Given the description of an element on the screen output the (x, y) to click on. 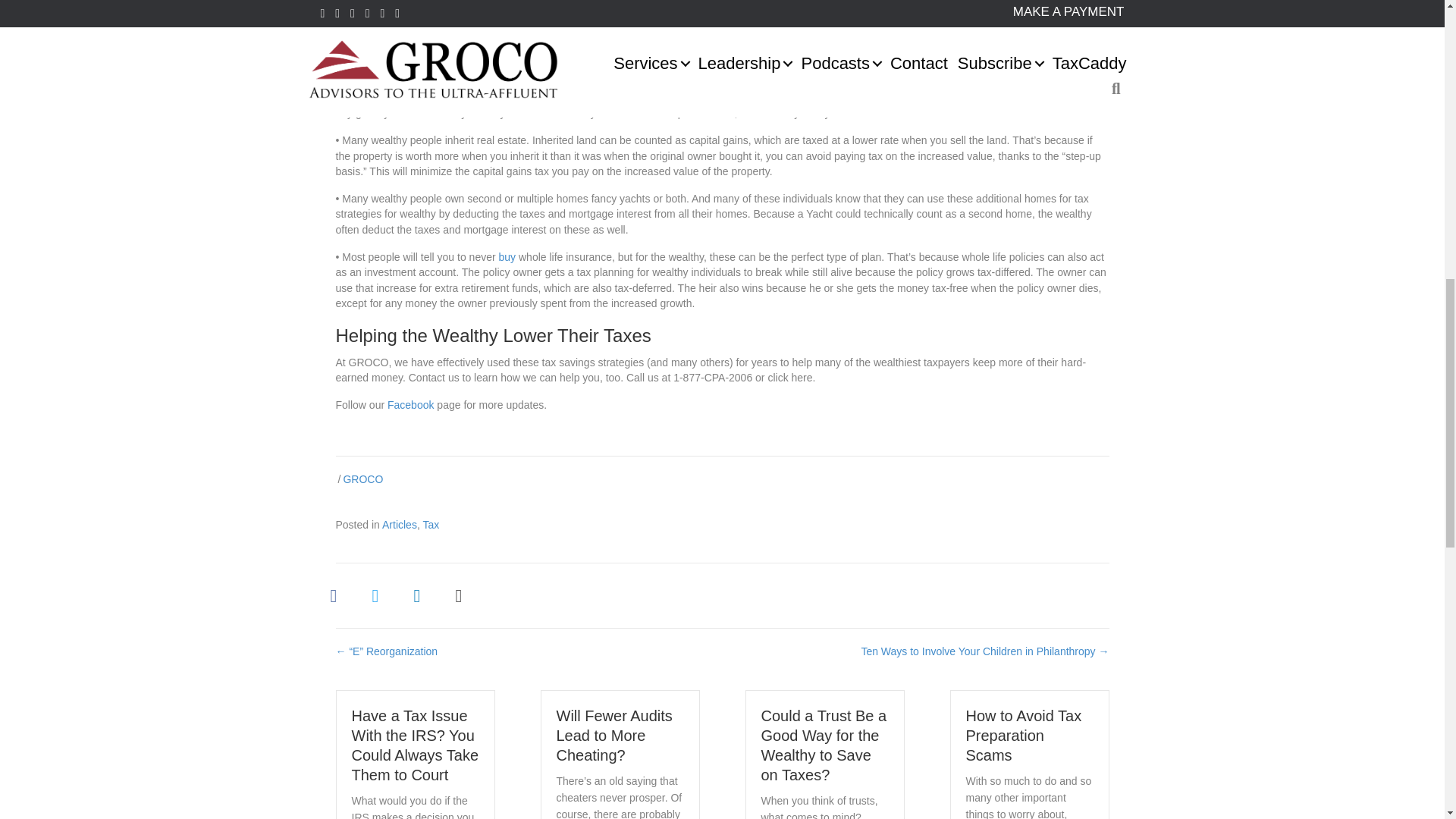
How to Avoid Tax Preparation Scams (1023, 735)
GROCO (362, 479)
Will Fewer Audits Lead to More Cheating? (614, 735)
Articles (398, 524)
Facebook (410, 404)
buy (507, 256)
Tax (430, 524)
